Given the description of an element on the screen output the (x, y) to click on. 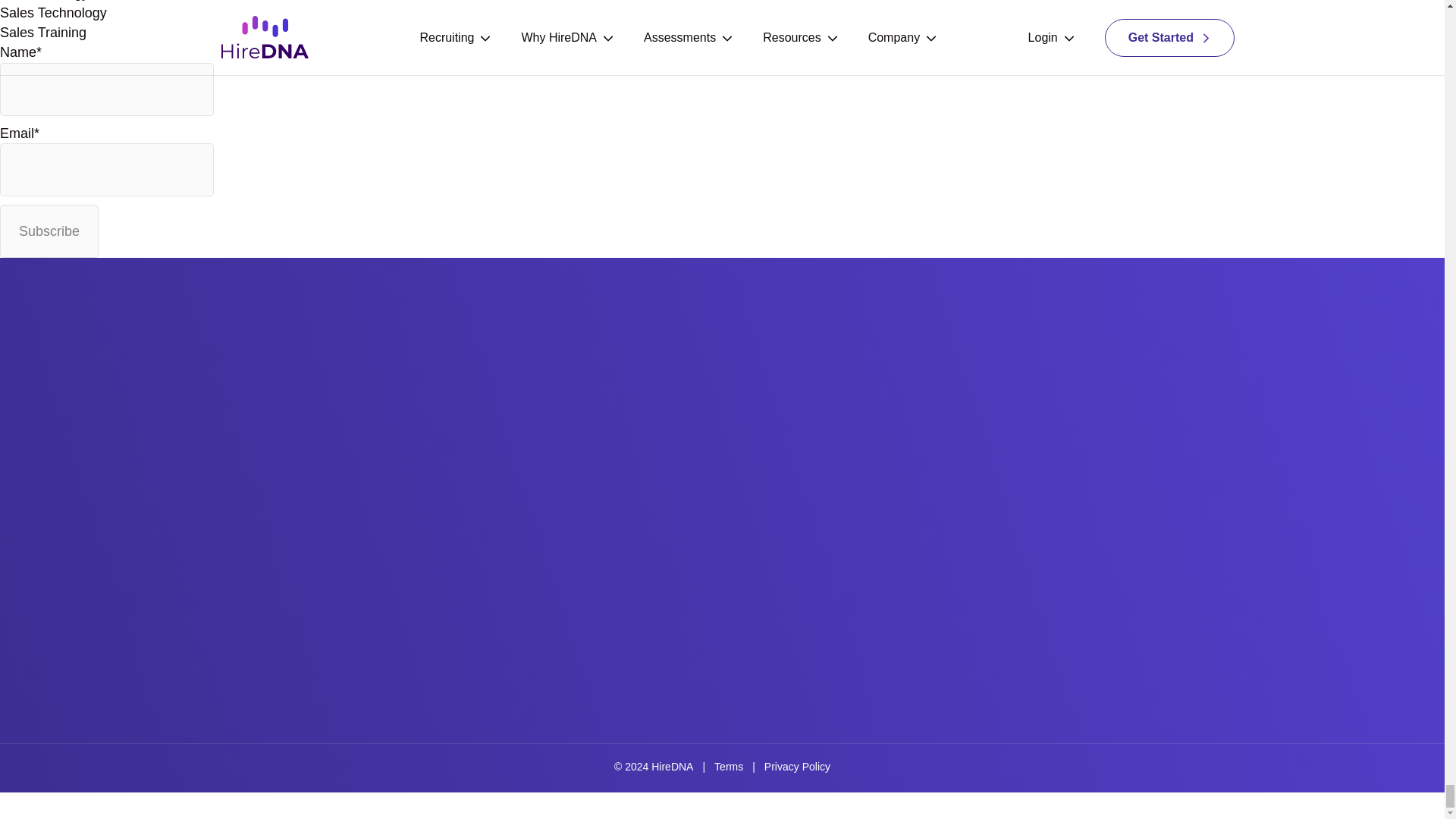
Subscribe (49, 230)
